Given the description of an element on the screen output the (x, y) to click on. 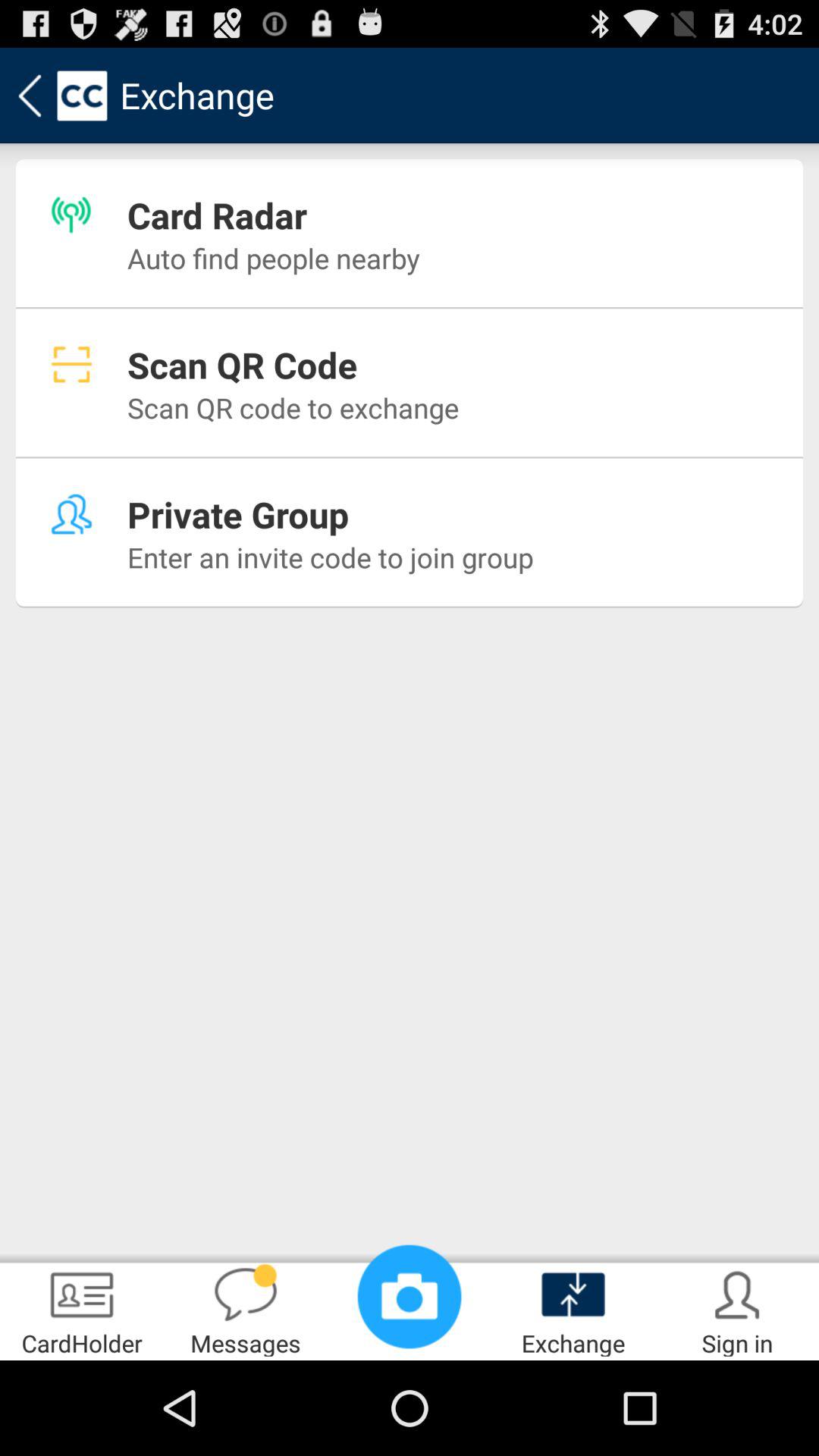
click app next to the cardholder app (245, 1309)
